Given the description of an element on the screen output the (x, y) to click on. 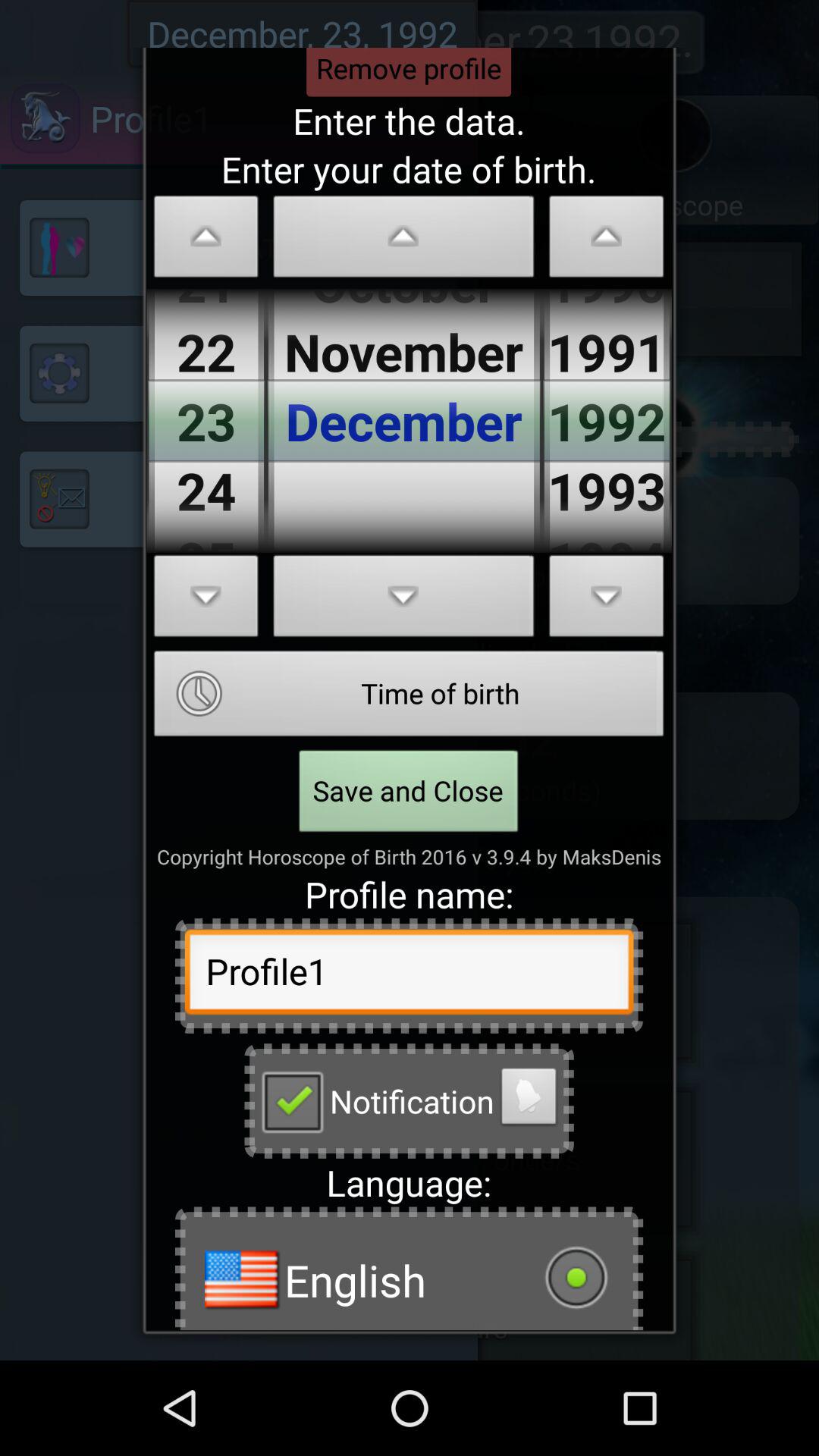
change birth year (606, 240)
